Given the description of an element on the screen output the (x, y) to click on. 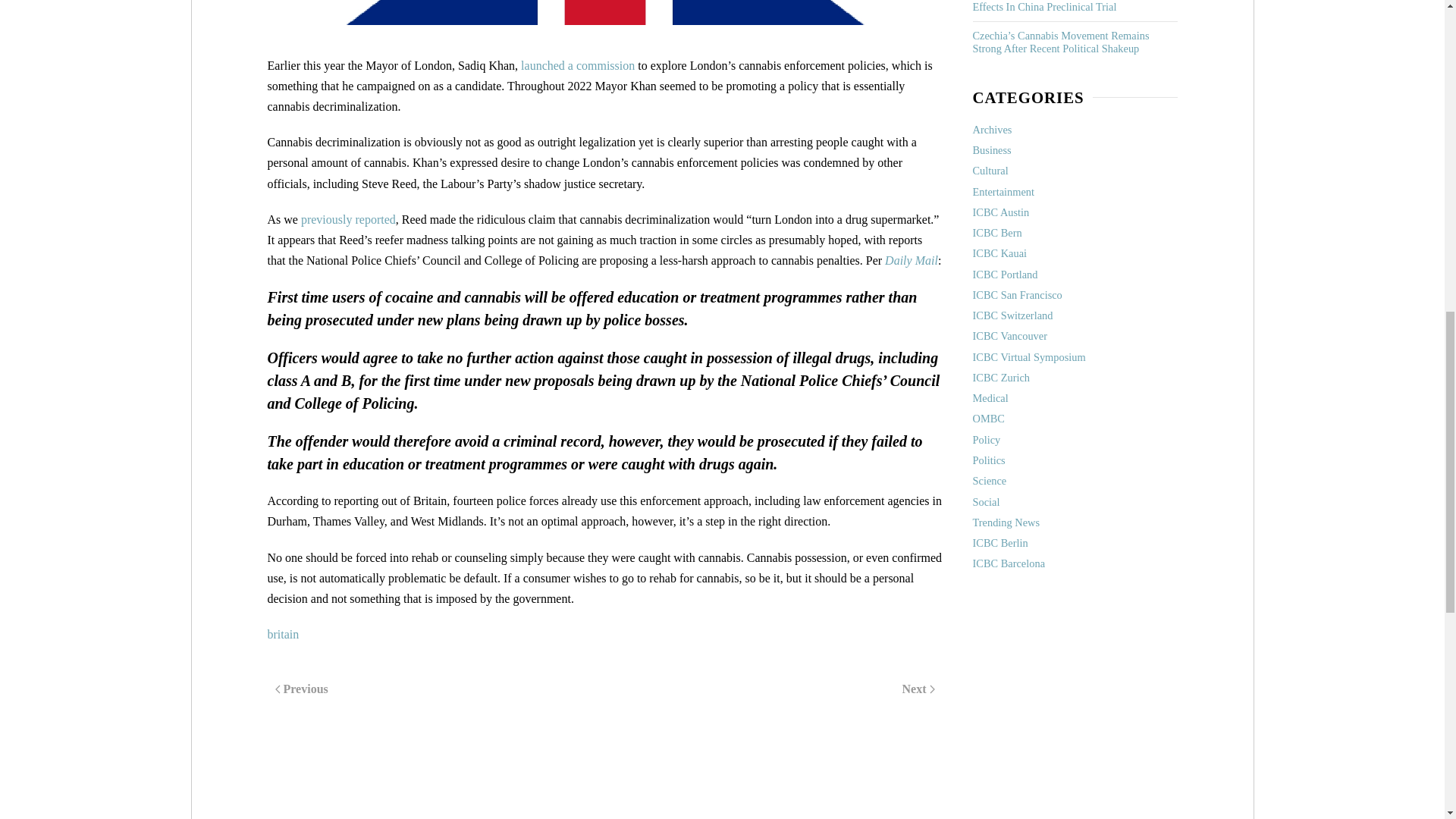
Ticket Ad 2 (1074, 710)
